Given the description of an element on the screen output the (x, y) to click on. 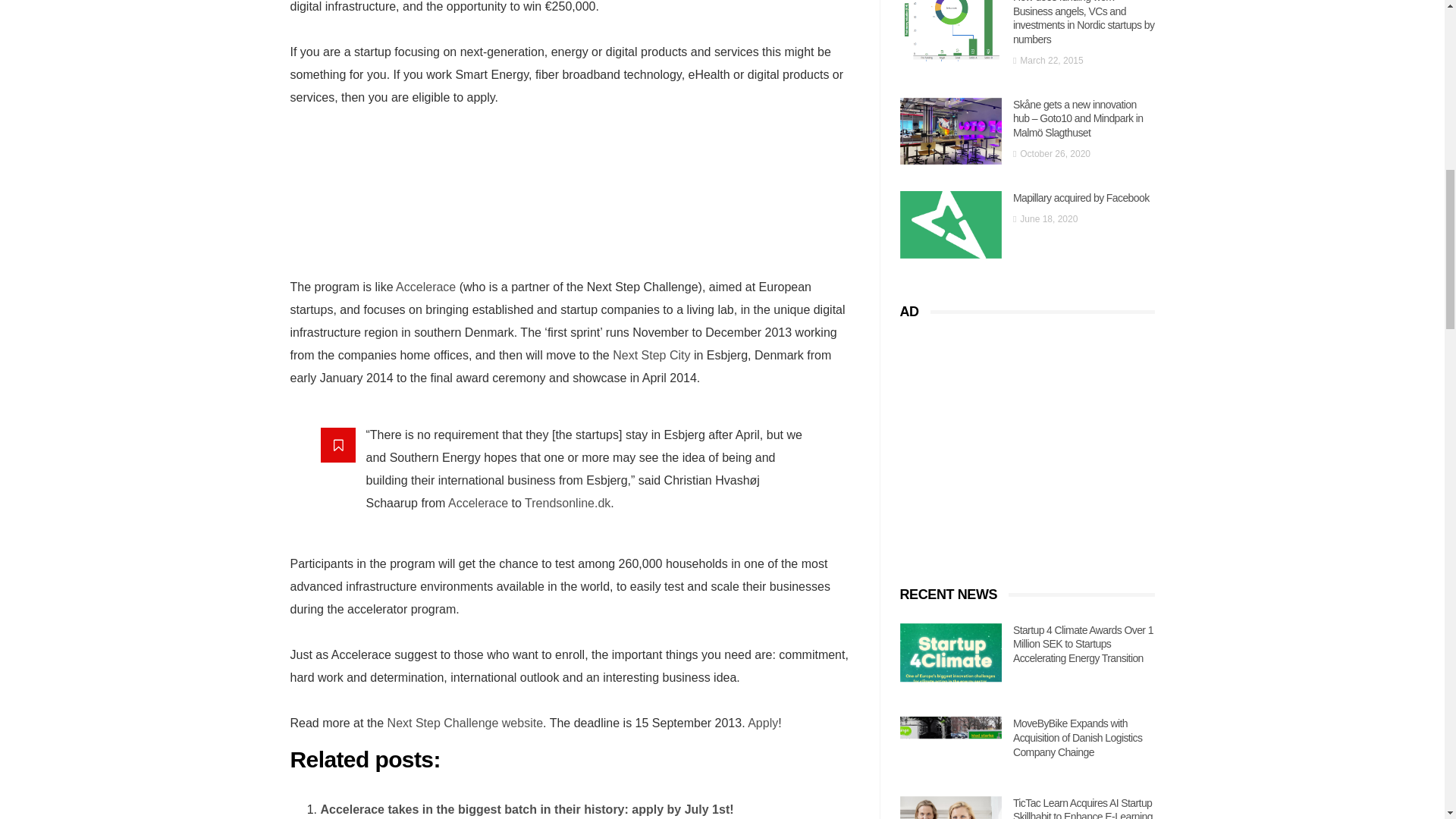
Advertisement (574, 211)
article (567, 502)
Next Step Challenge website (465, 722)
apply now (762, 722)
accelerace.dk (478, 502)
Accelerace (425, 286)
Trendsonline.dk (567, 502)
Apply (762, 722)
Next Step City (651, 354)
Accelerace (478, 502)
accelerace.dk (425, 286)
